Given the description of an element on the screen output the (x, y) to click on. 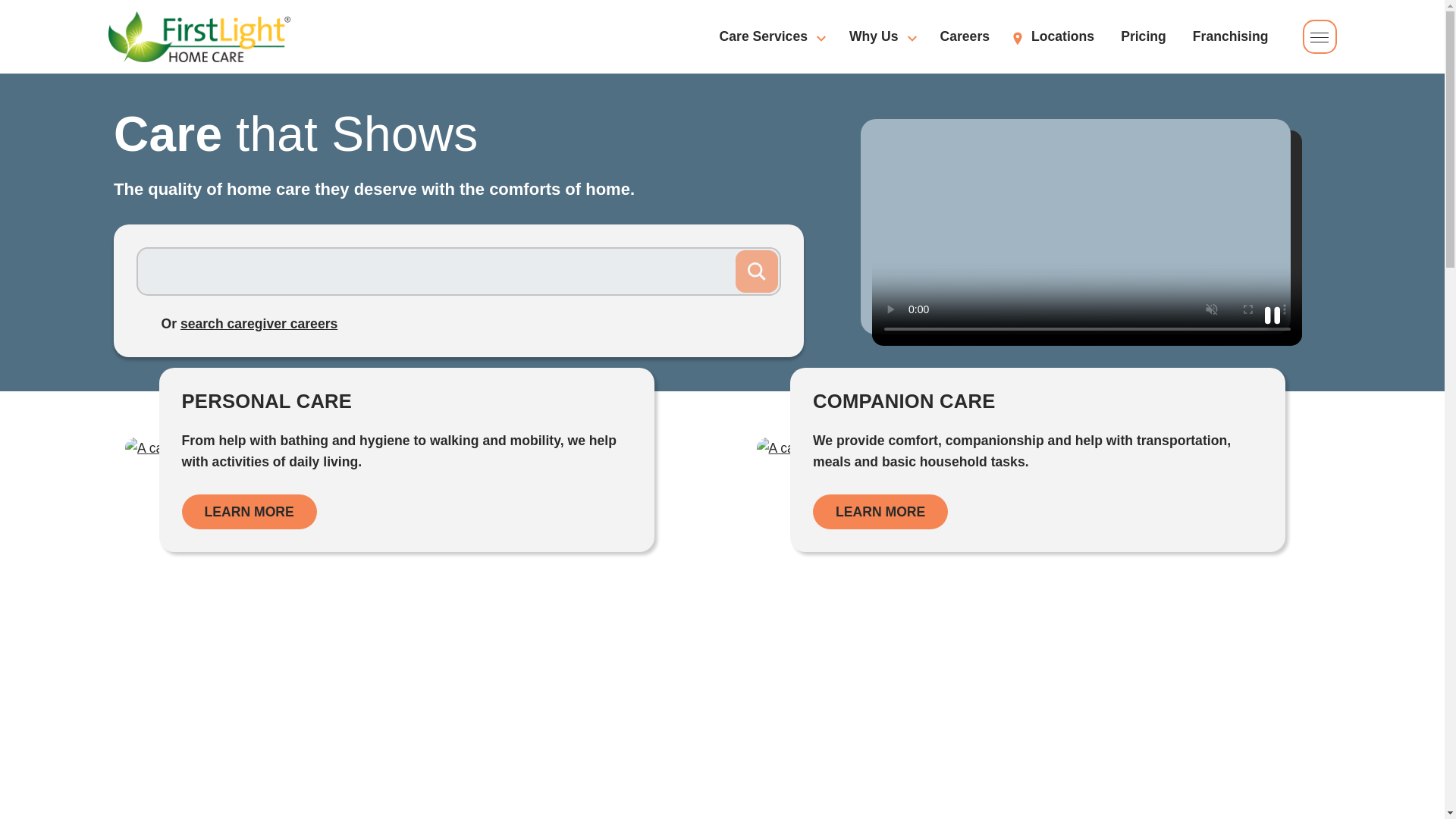
Franchising (1230, 36)
Pricing (1143, 36)
FirstLight Home Care Homepage (198, 36)
Toggle flyout menu (1319, 36)
Careers (965, 36)
Why Us (881, 36)
Your browser does not support the video tag. (1087, 237)
Perform search (756, 271)
Care Services (770, 36)
Care that Shows (458, 290)
Locations (458, 133)
